Given the description of an element on the screen output the (x, y) to click on. 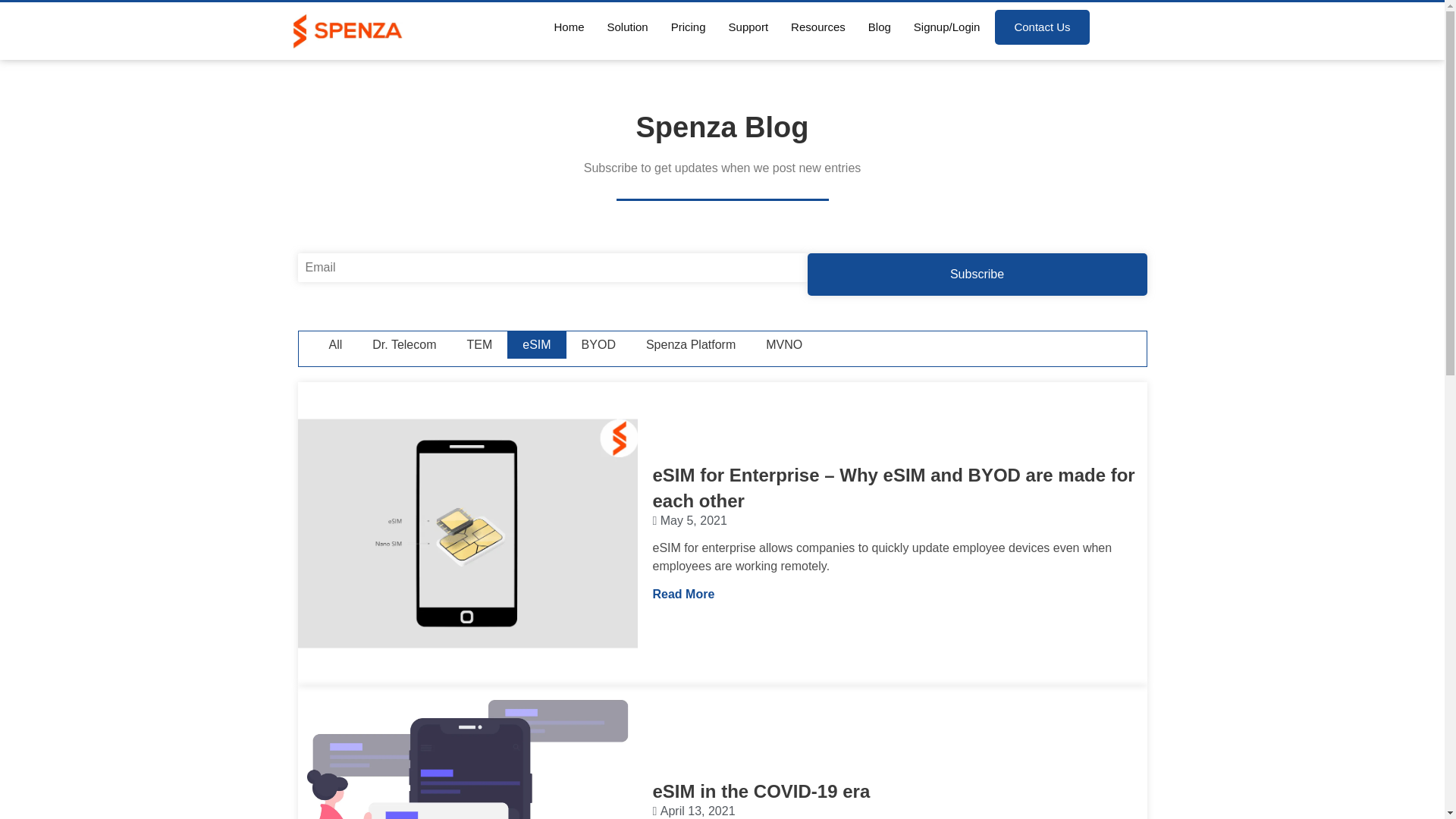
Home (568, 27)
Resources (818, 27)
TEM (478, 344)
Support (748, 27)
Dr. Telecom (403, 344)
Blog (879, 27)
Subscribe (976, 274)
Pricing (688, 27)
Contact Us (1041, 27)
Solution (626, 27)
All (336, 344)
Subscribe (976, 274)
